Given the description of an element on the screen output the (x, y) to click on. 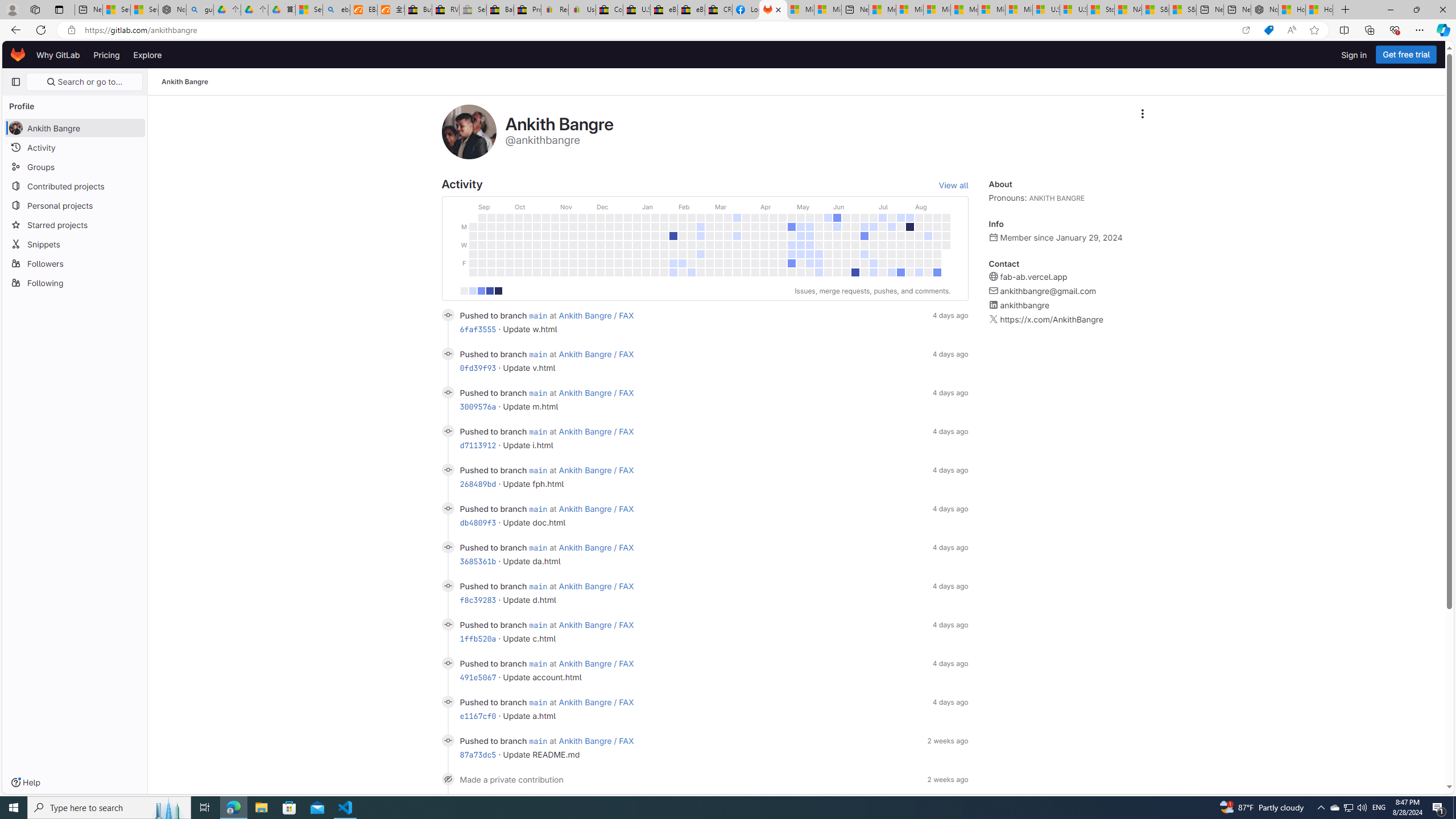
e1167cf0 (478, 715)
AutomationID: dropdown-toggle-btn-16 (1141, 113)
